Given the description of an element on the screen output the (x, y) to click on. 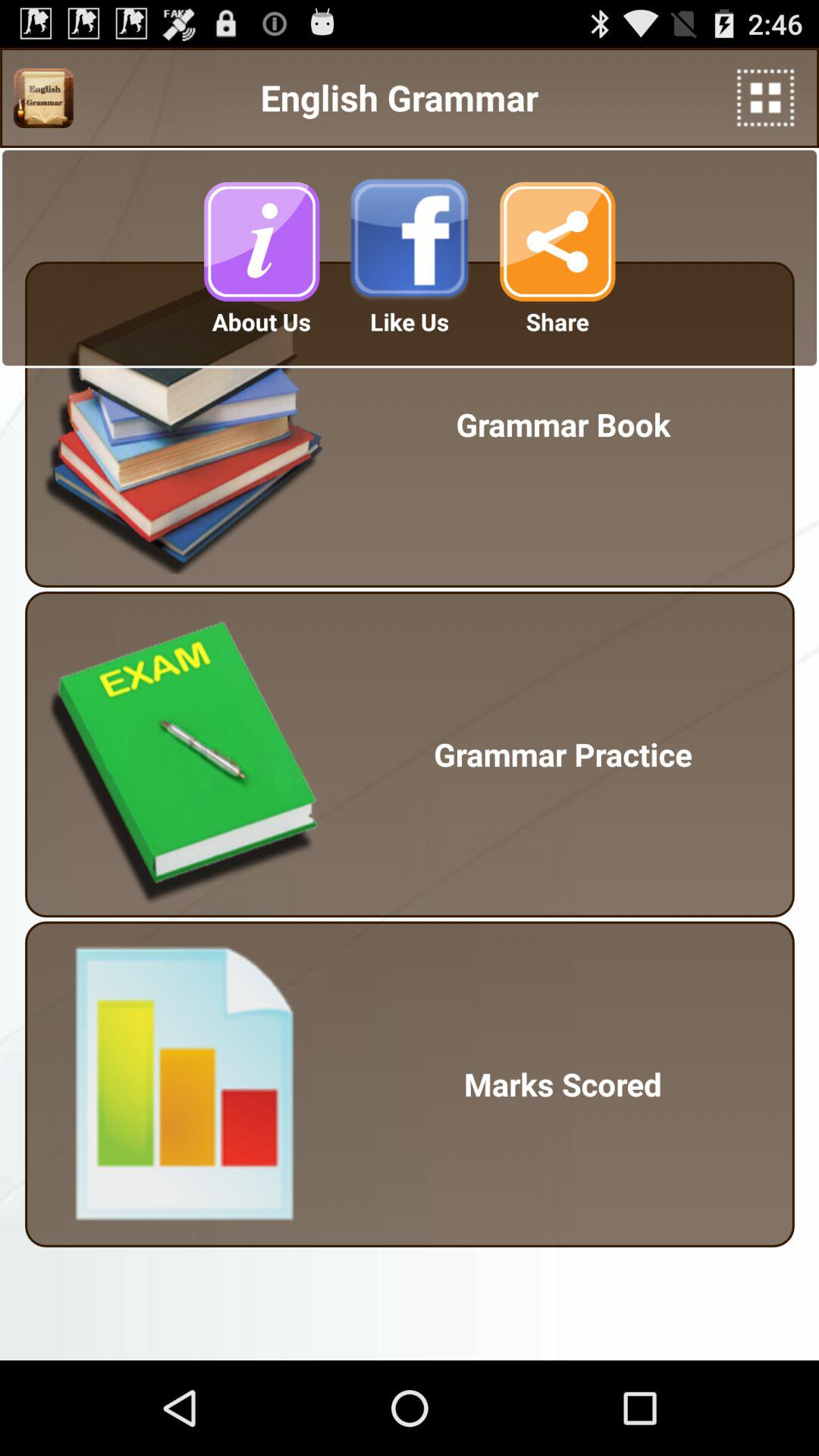
switch menu option (43, 97)
